Given the description of an element on the screen output the (x, y) to click on. 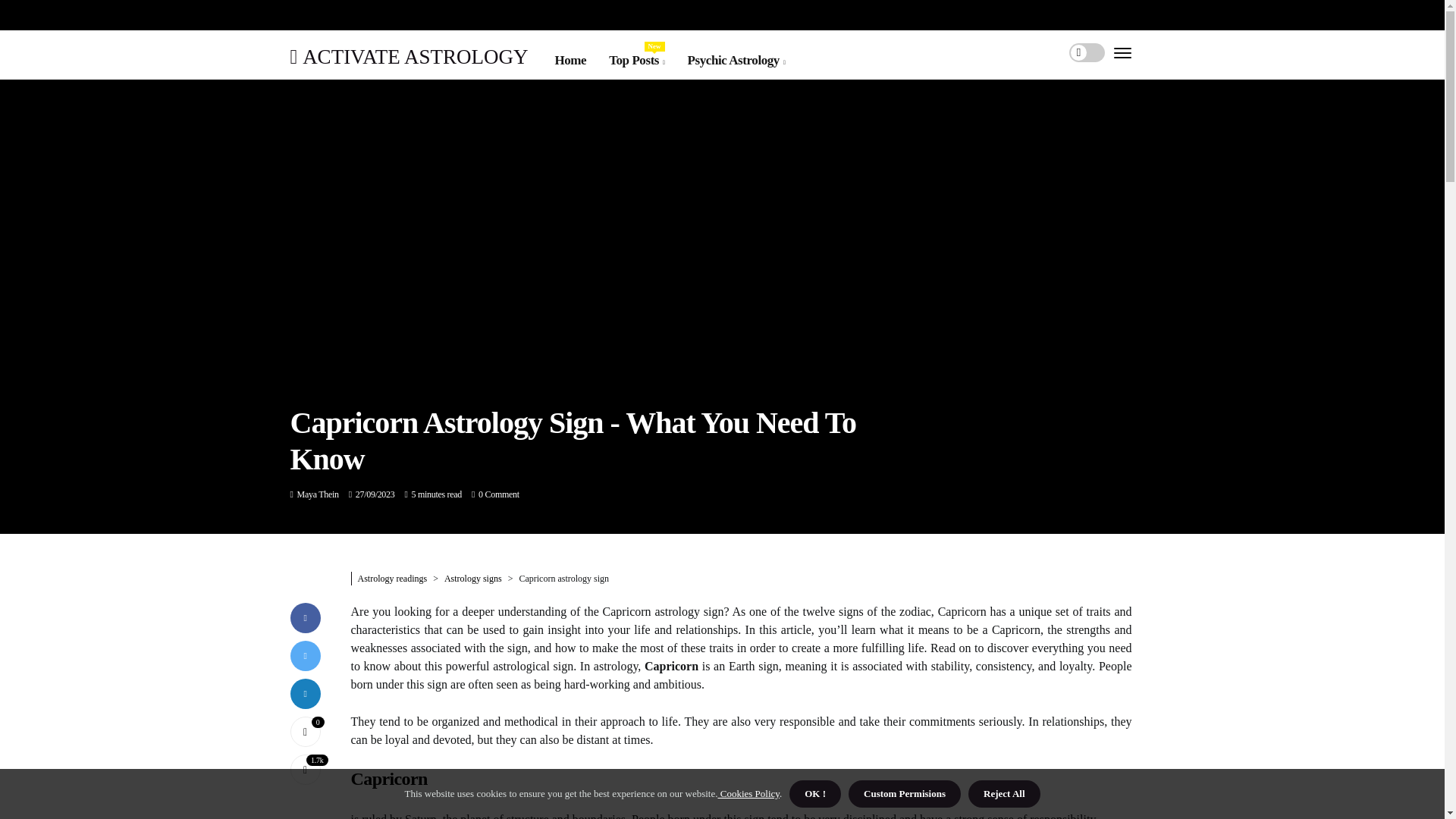
Like (304, 730)
ACTIVATE ASTROLOGY (408, 56)
Psychic Astrology (736, 60)
Posts by Maya Thein (318, 493)
